Given the description of an element on the screen output the (x, y) to click on. 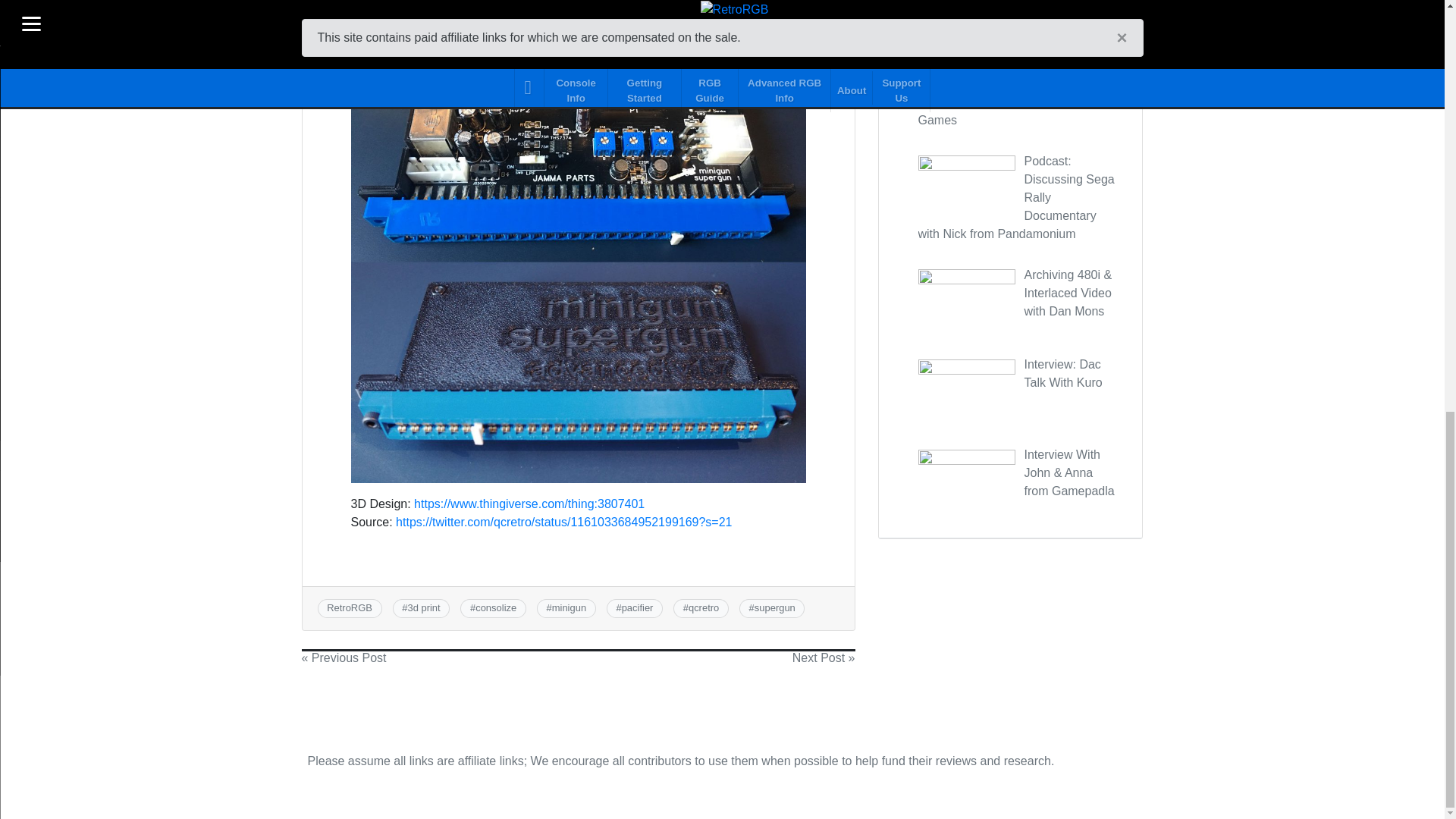
consolize (496, 607)
RetroRGB (349, 607)
qcretro (703, 607)
supergun (774, 607)
Interview: Dac Talk With Kuro (1062, 373)
3d print (423, 607)
pacifier (637, 607)
minigun (568, 607)
